Given the description of an element on the screen output the (x, y) to click on. 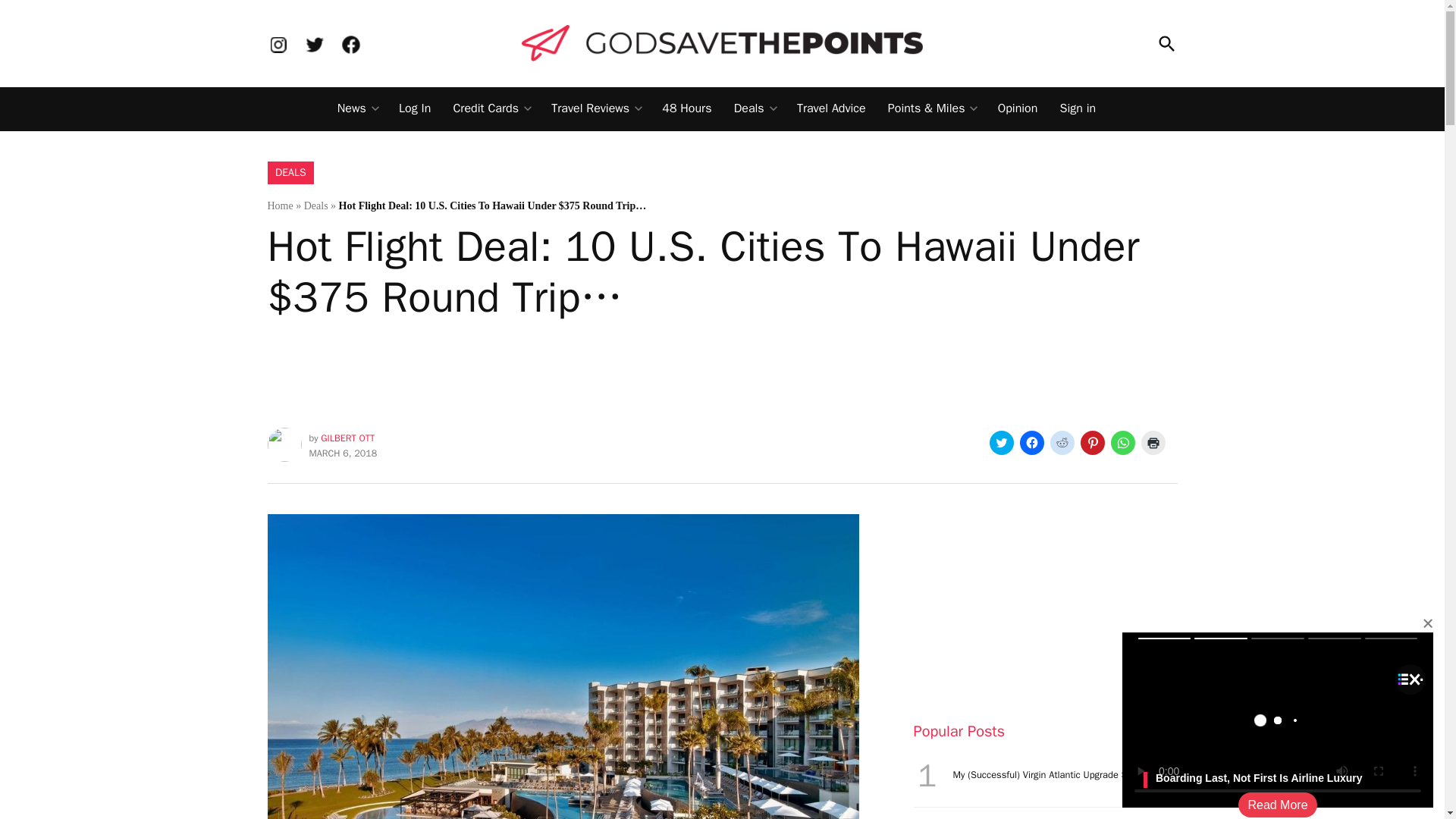
Instagram (277, 44)
Click to print (1152, 442)
Click to share on Reddit (1061, 442)
Click to share on Pinterest (1091, 442)
Click to share on Facebook (1031, 442)
Click to share on Twitter (1000, 442)
Click to share on WhatsApp (1121, 442)
Twitter (313, 44)
